Given the description of an element on the screen output the (x, y) to click on. 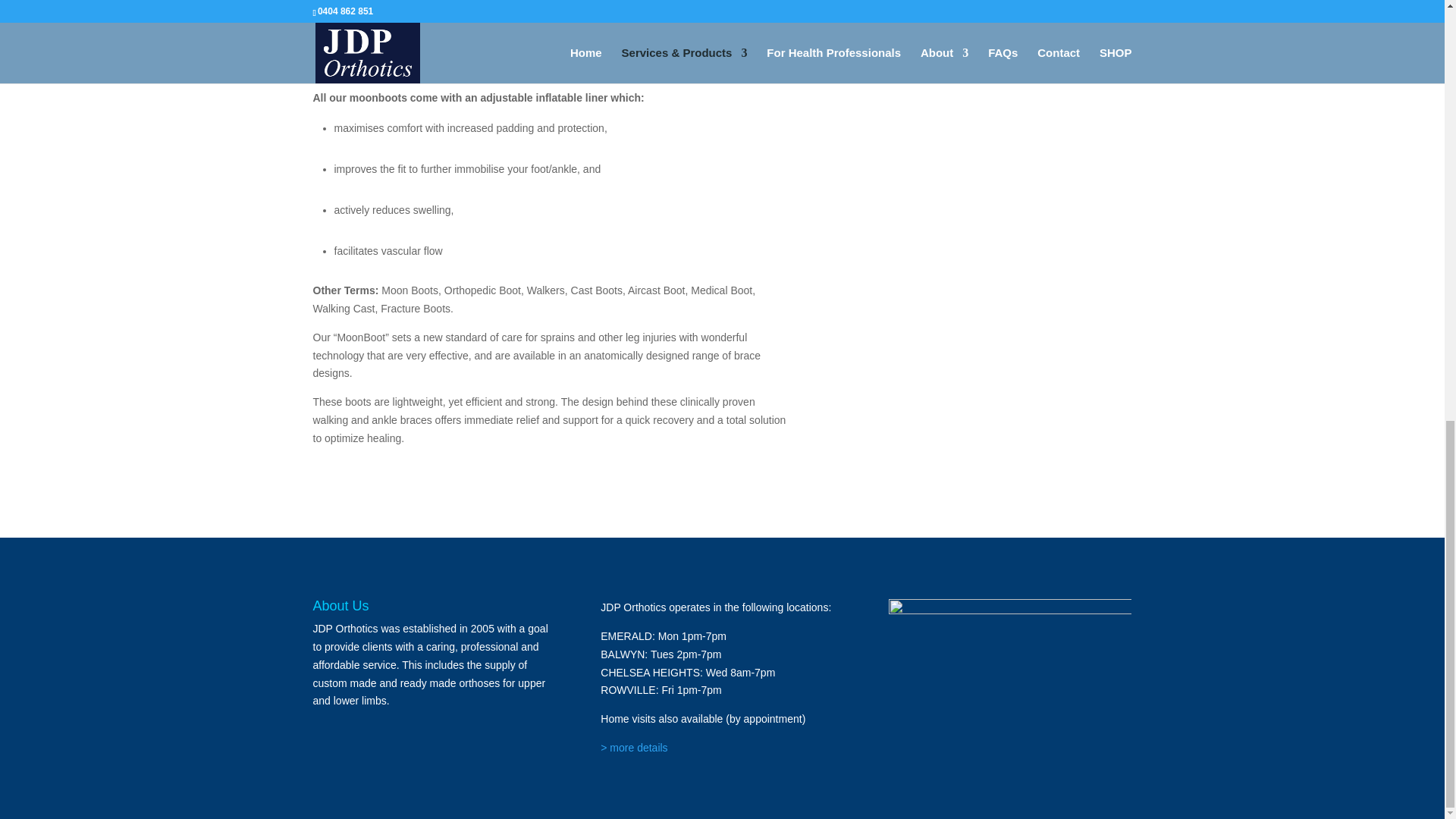
aopa-logo wt (1009, 624)
